Given the description of an element on the screen output the (x, y) to click on. 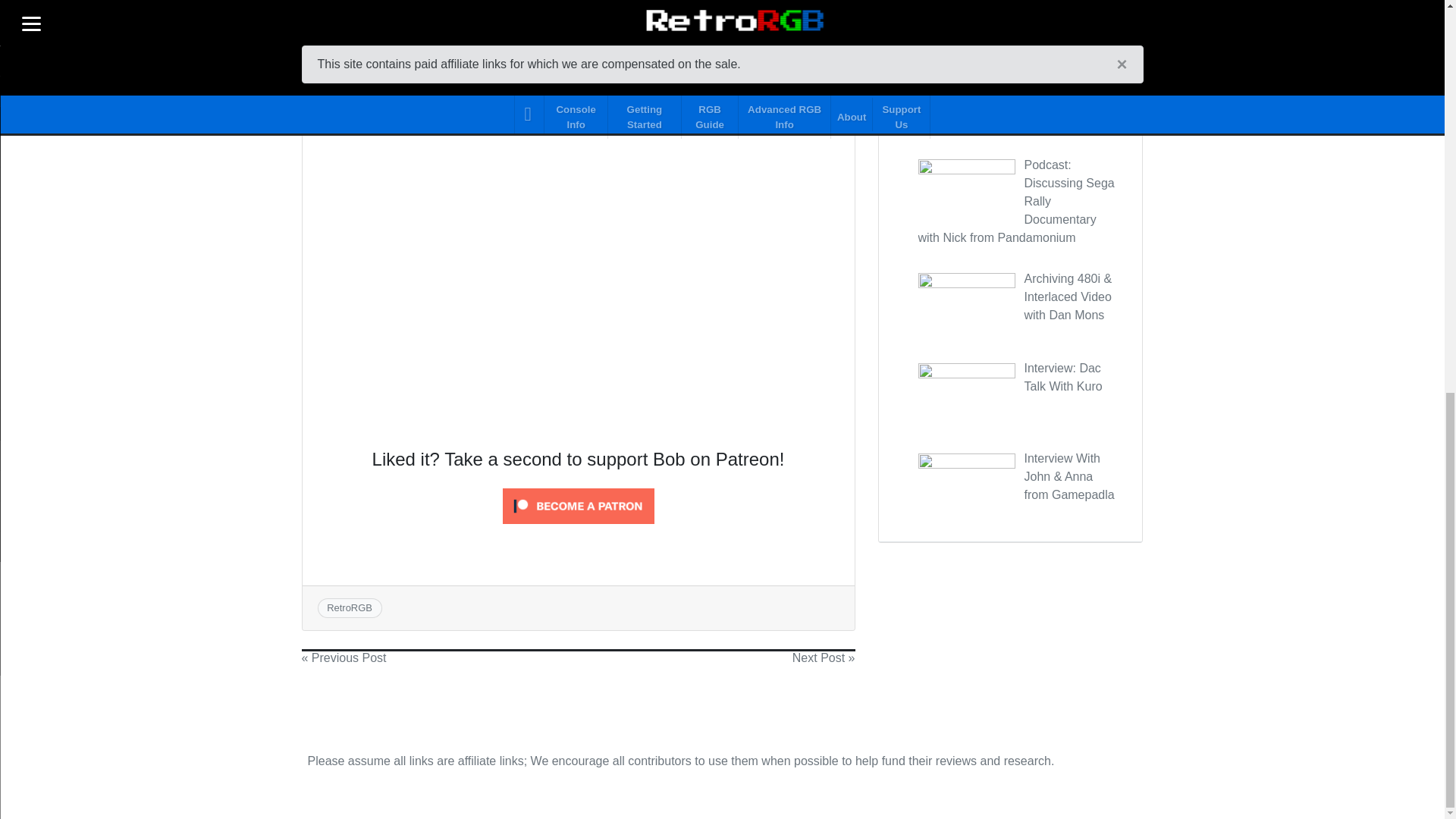
Interview: Dac Talk With Kuro (1062, 377)
July 4, 2020 (574, 58)
RetroRGB (349, 607)
